Given the description of an element on the screen output the (x, y) to click on. 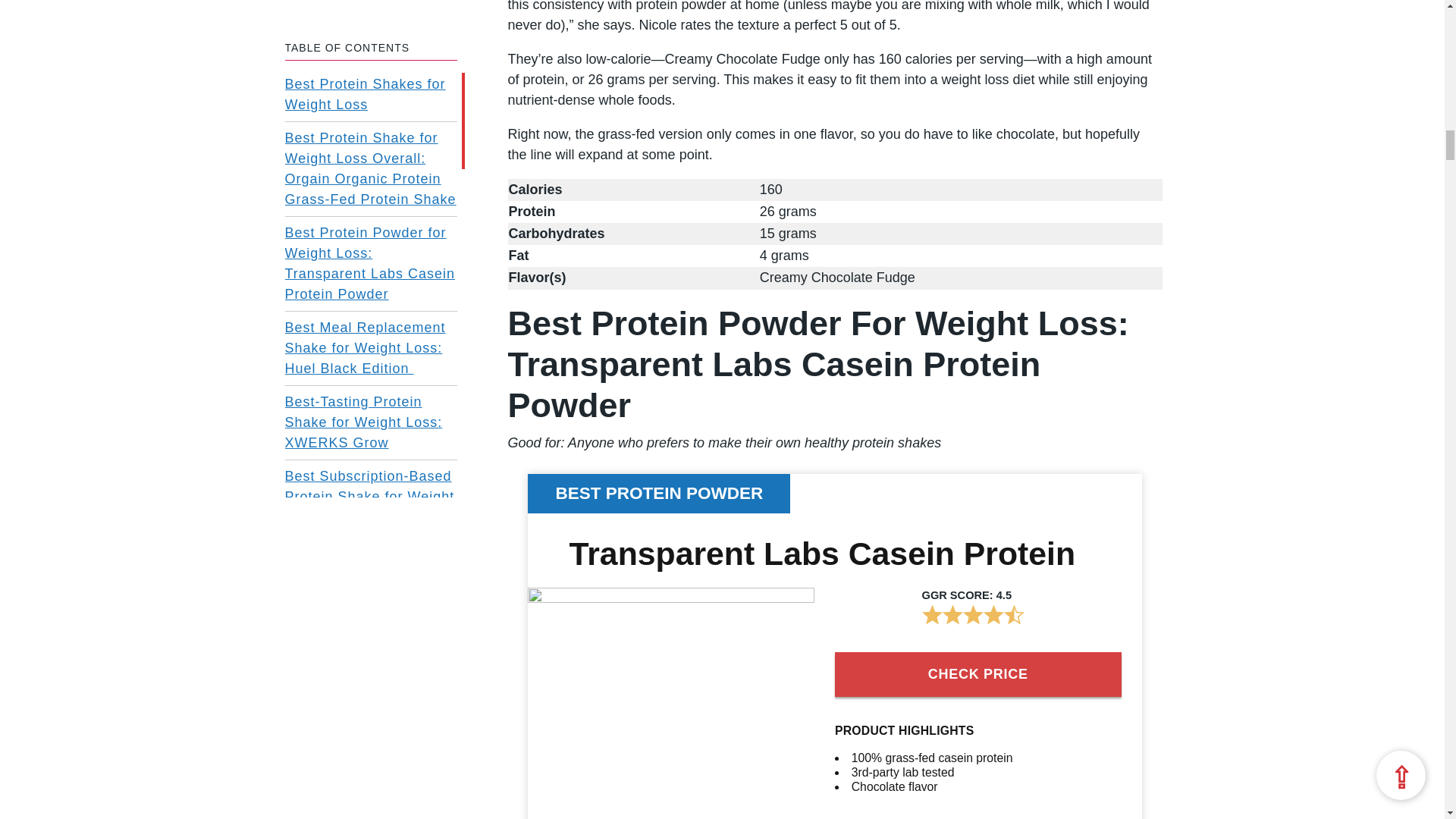
Transparent Labs Casein Protein (670, 598)
Check Price (977, 673)
Transparent Labs Casein Protein (822, 553)
